Given the description of an element on the screen output the (x, y) to click on. 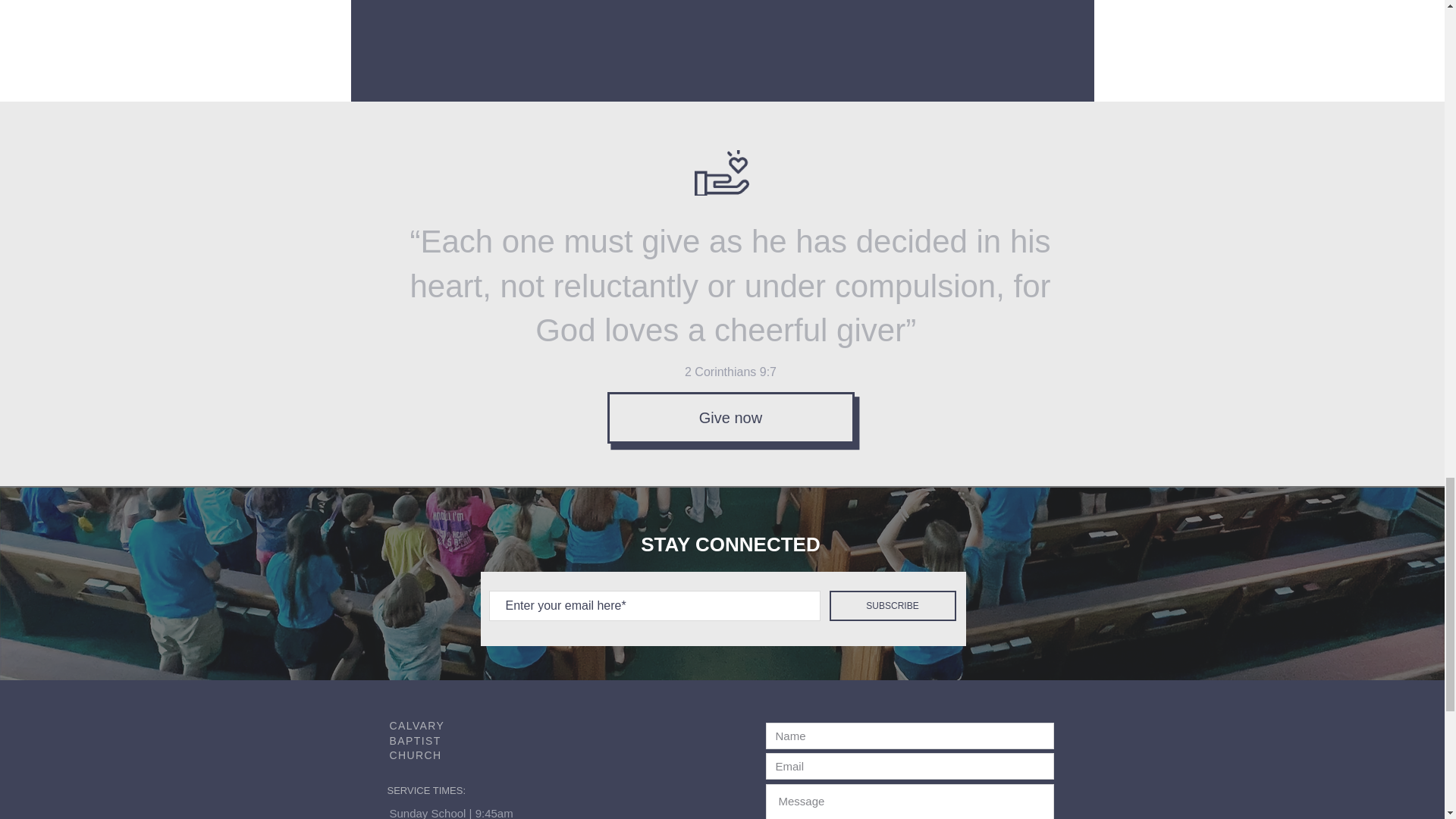
SUBSCRIBE (892, 605)
Give now (730, 417)
